Given the description of an element on the screen output the (x, y) to click on. 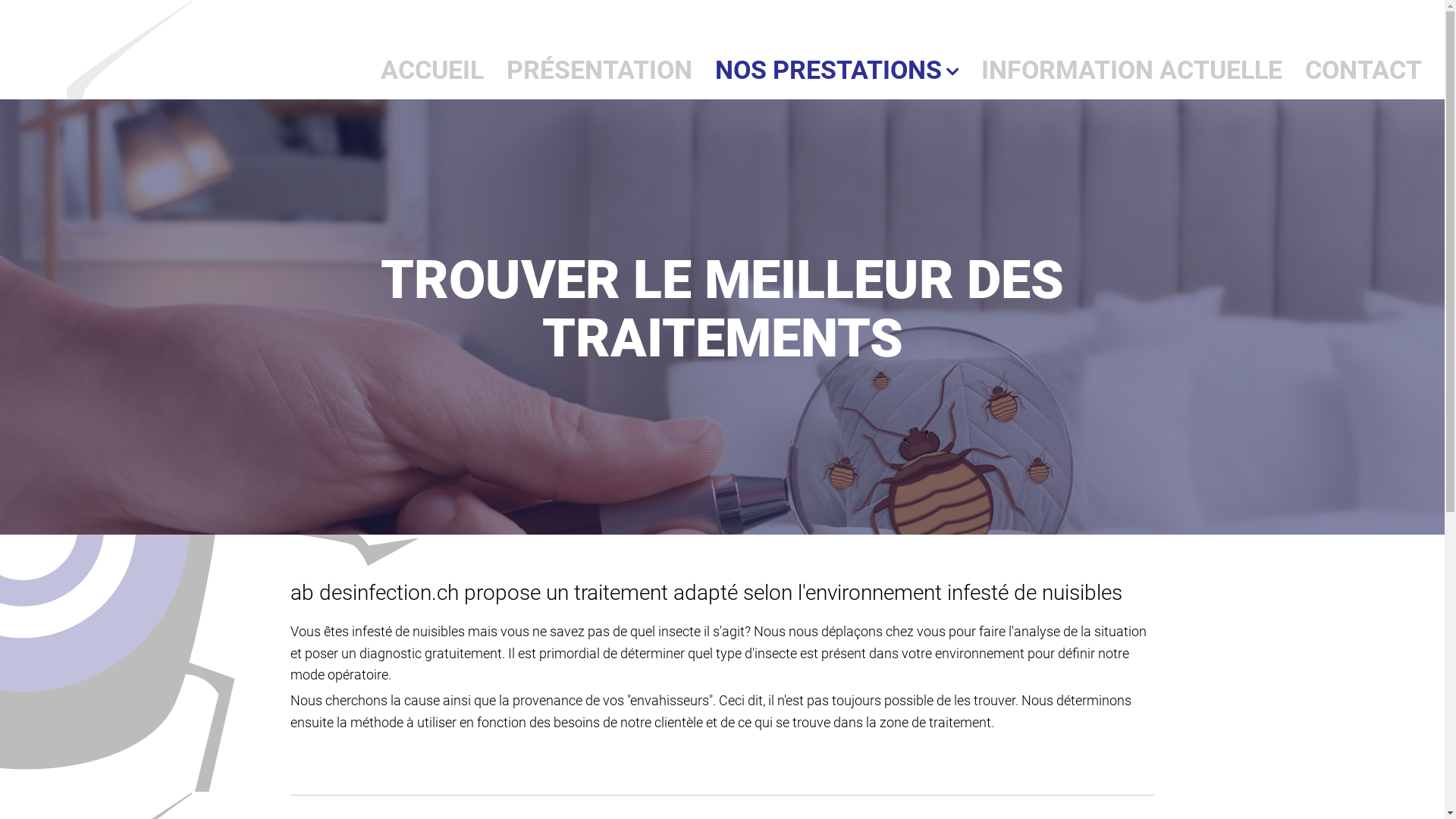
ACCUEIL Element type: text (431, 70)
CONTACT Element type: text (1363, 70)
INFORMATION ACTUELLE Element type: text (1131, 70)
NOS PRESTATIONS Element type: text (836, 70)
